Given the description of an element on the screen output the (x, y) to click on. 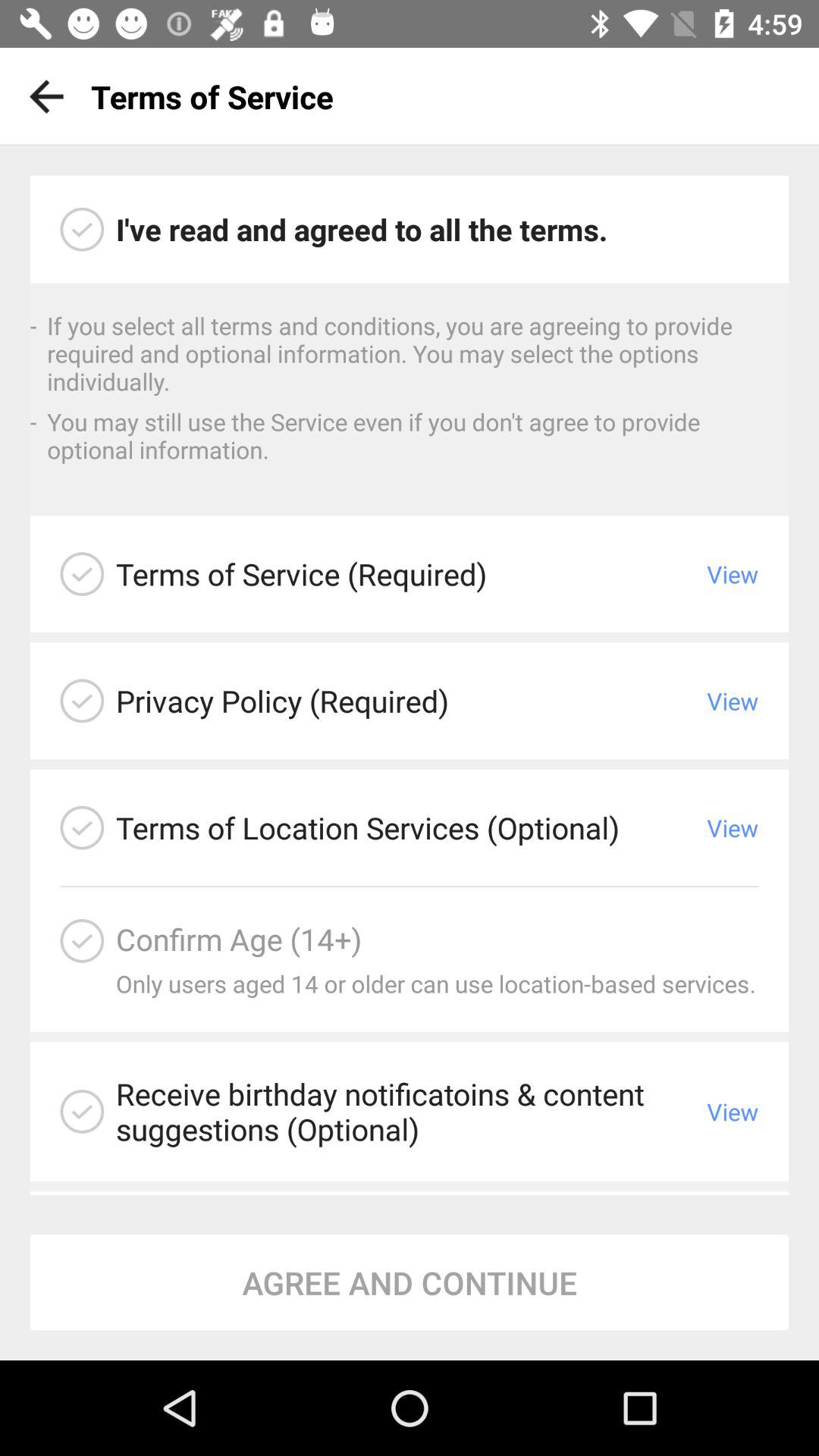
select terms and service (82, 229)
